Given the description of an element on the screen output the (x, y) to click on. 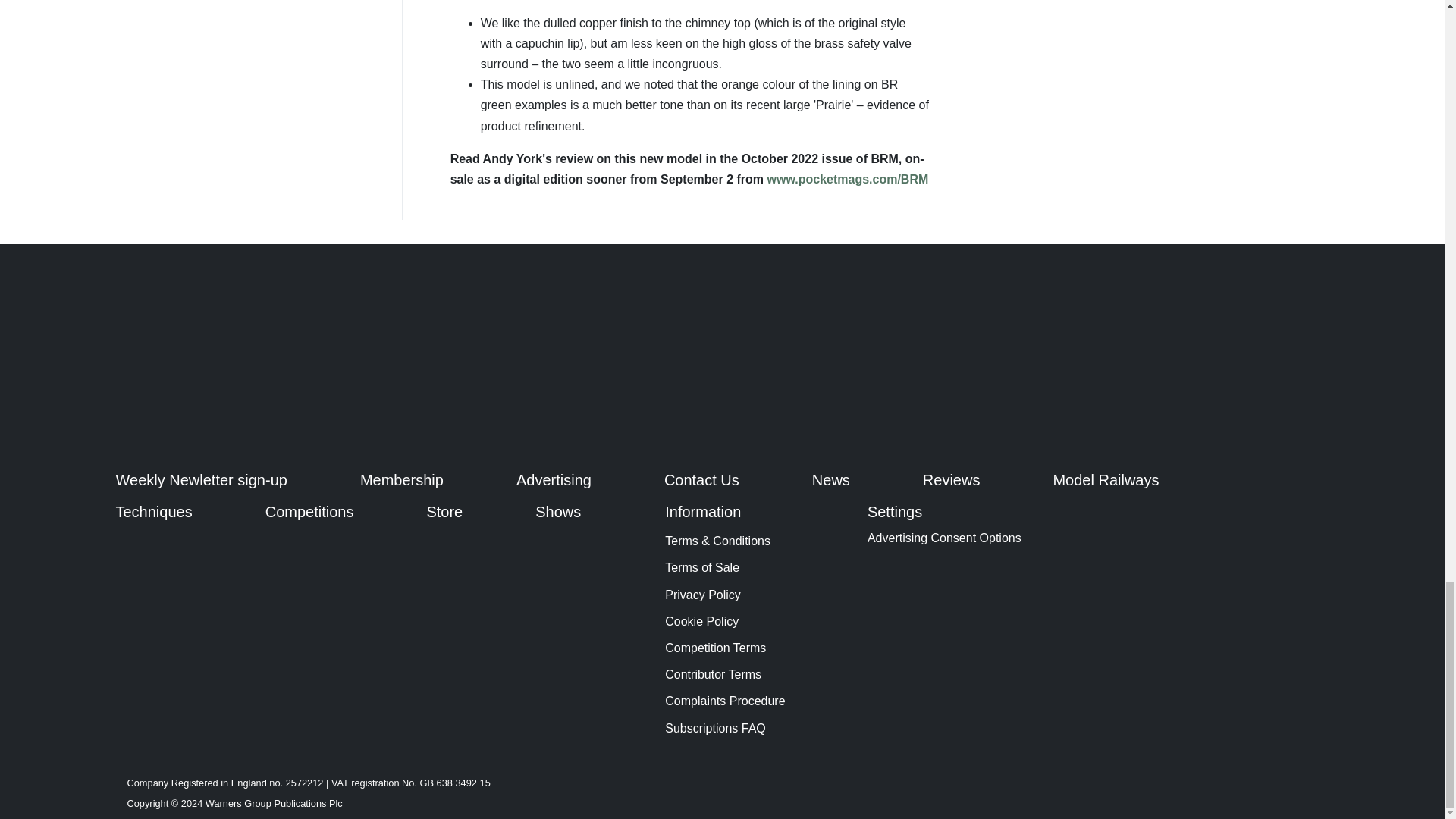
View your Advertising Consent options for this website (944, 537)
